Given the description of an element on the screen output the (x, y) to click on. 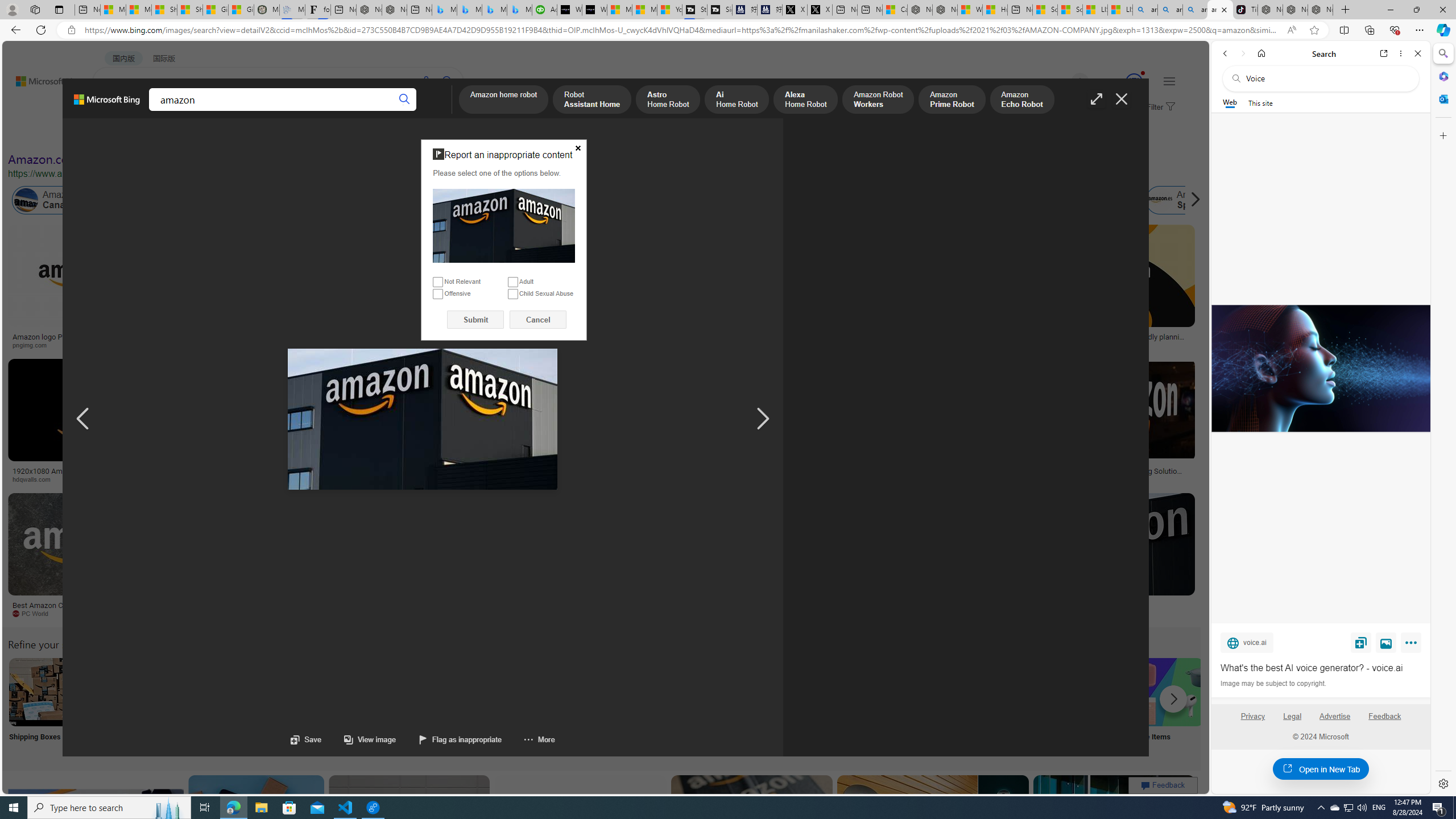
Log into My Account (268, 706)
Invisible focusable element for fixing accessibility issue (425, 142)
vecteezy.com (938, 479)
Flag as inappropriate (449, 739)
Dallas Morning News (791, 479)
Amazon Labor Law Violation in California (564, 200)
IMAGES (156, 111)
Customize (1442, 135)
